Given the description of an element on the screen output the (x, y) to click on. 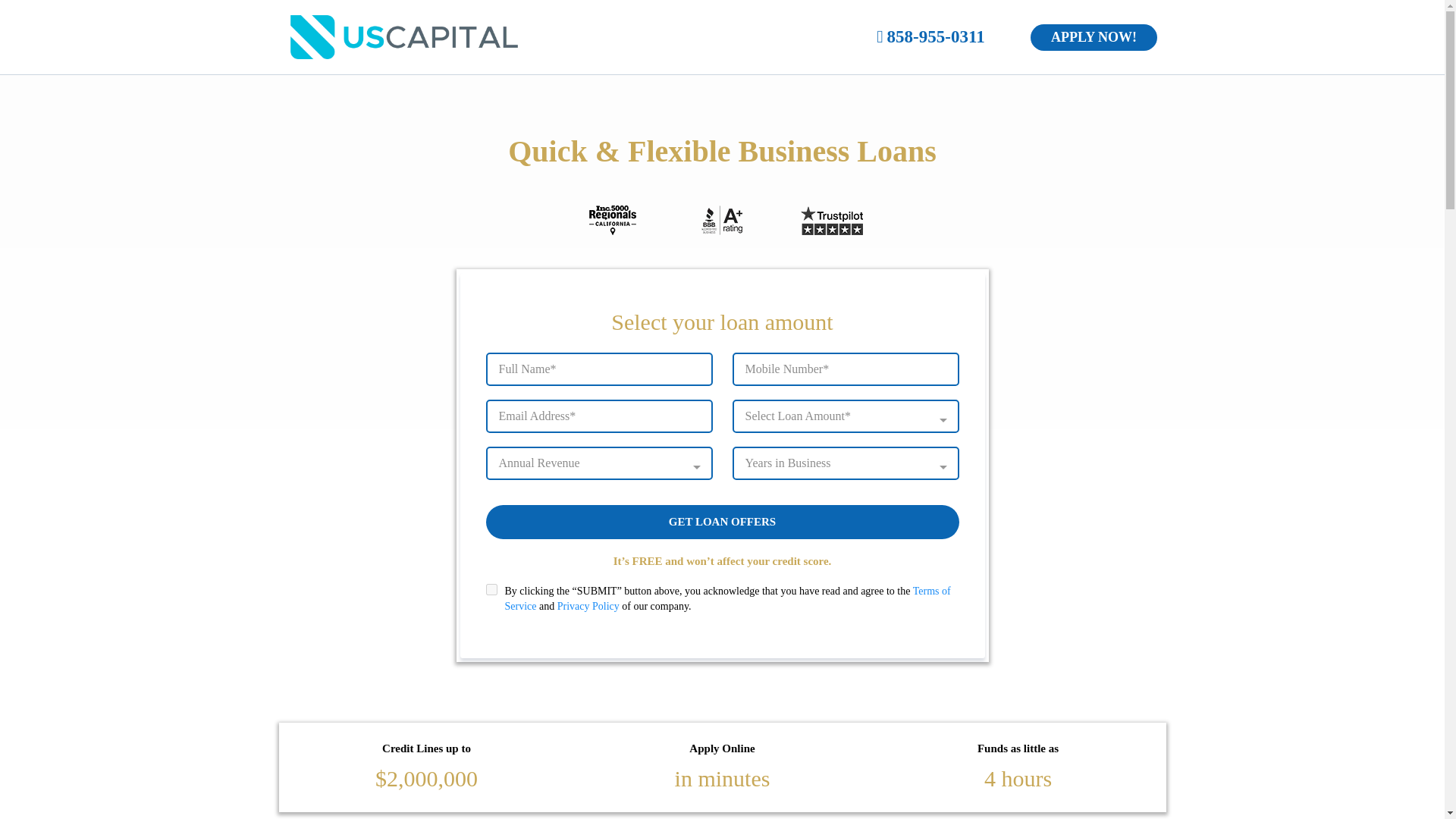
APPLY NOW! (1093, 37)
858-955-0311 (935, 36)
Terms of Service (727, 598)
Privacy Policy (588, 605)
GET LOAN OFFERS (721, 521)
